Given the description of an element on the screen output the (x, y) to click on. 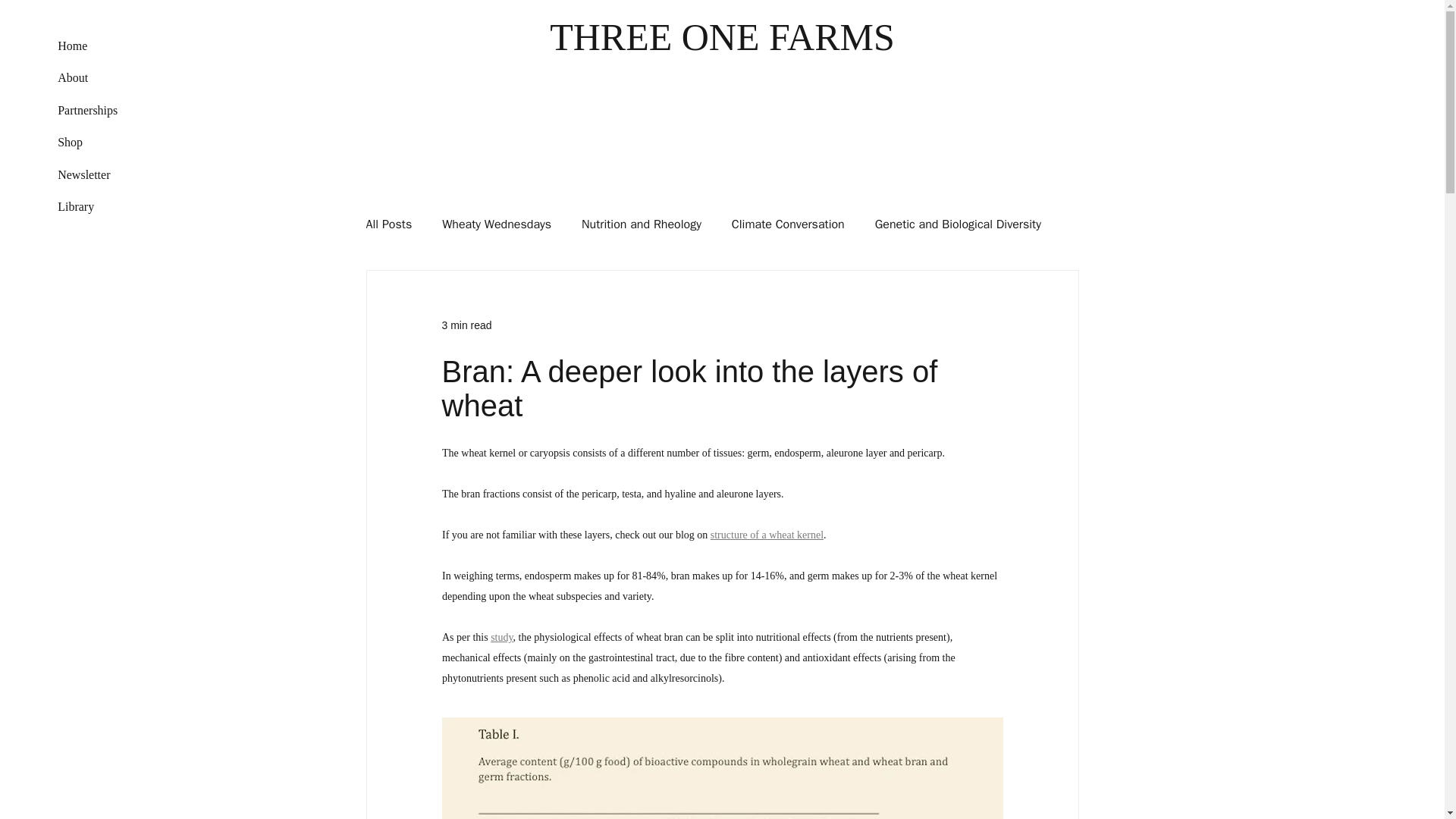
study (501, 635)
structure of a wheat kernel (766, 533)
Climate Conversation (788, 224)
Genetic and Biological Diversity (958, 224)
Library (105, 206)
About (105, 78)
All Posts (388, 224)
THREE ONE FARMS (722, 36)
Partnerships (105, 110)
Nutrition and Rheology (640, 224)
Wheaty Wednesdays (496, 224)
Newsletter (105, 174)
Shop (105, 142)
Home (105, 46)
3 min read (466, 324)
